Given the description of an element on the screen output the (x, y) to click on. 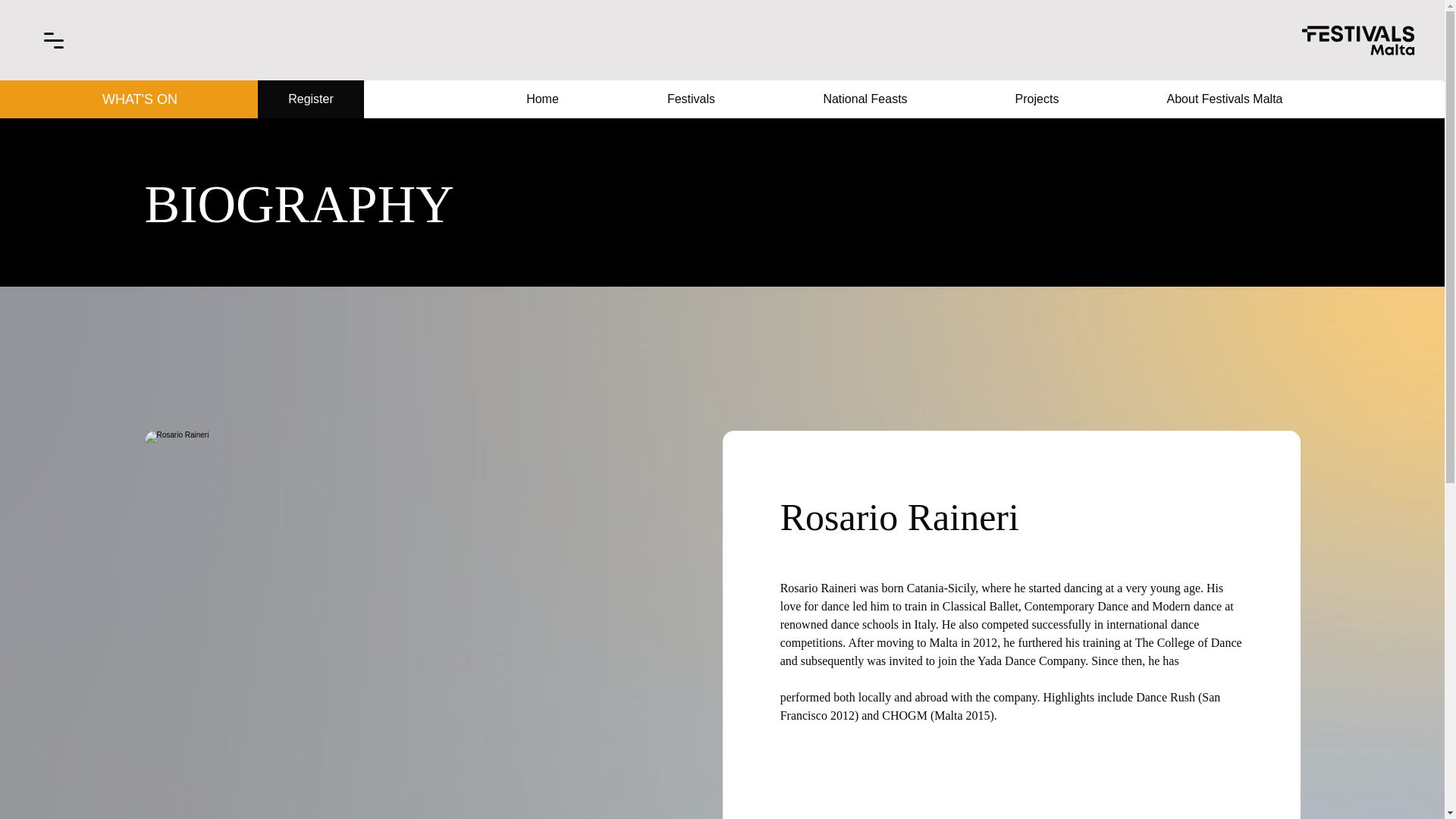
About Festivals Malta (1224, 99)
National Feasts (864, 99)
Register (310, 98)
WHAT'S ON (139, 99)
Projects (1036, 99)
Home (541, 99)
Festivals (690, 99)
